Given the description of an element on the screen output the (x, y) to click on. 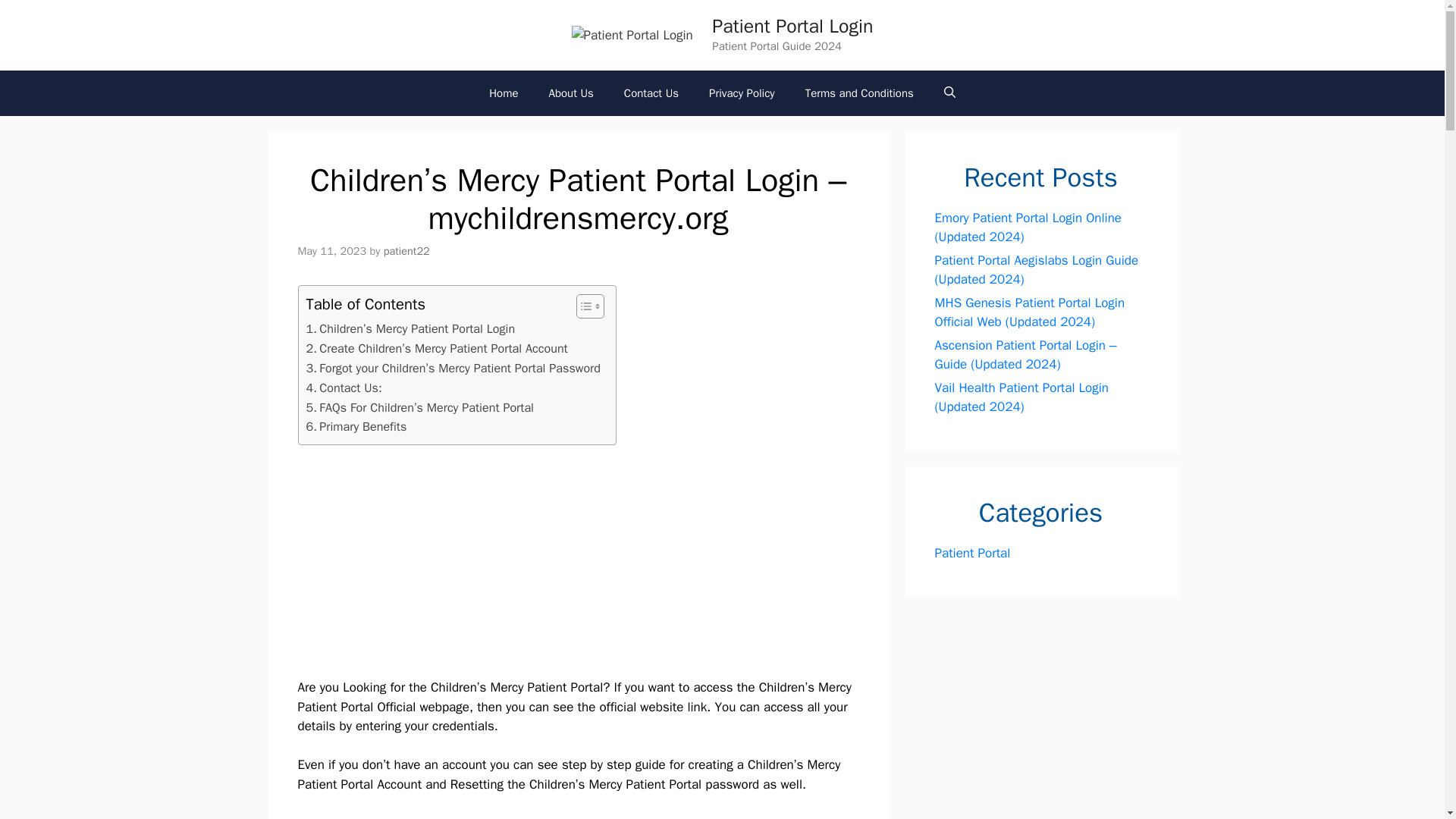
Primary Benefits (356, 426)
Patient Portal (972, 552)
patient22 (406, 250)
Advertisement (588, 563)
Contact Us (651, 92)
Contact Us: (343, 388)
Primary Benefits (356, 426)
View all posts by patient22 (406, 250)
About Us (571, 92)
Contact Us: (343, 388)
Patient Portal Login (791, 25)
Home (503, 92)
Terms and Conditions (859, 92)
Privacy Policy (742, 92)
